Given the description of an element on the screen output the (x, y) to click on. 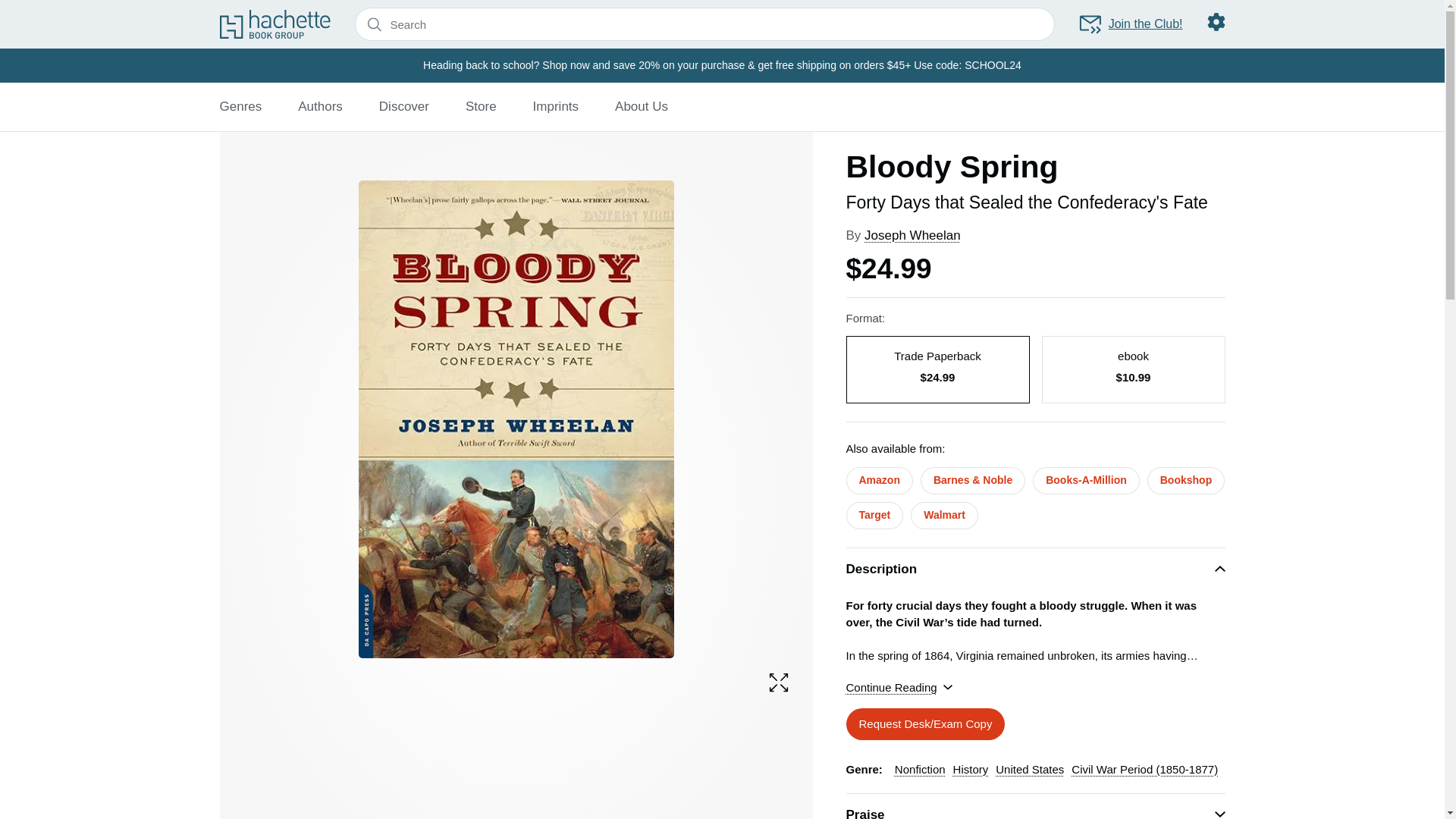
Genres (240, 106)
Join the Club! (1130, 24)
Go to Hachette Book Group home (274, 23)
